Given the description of an element on the screen output the (x, y) to click on. 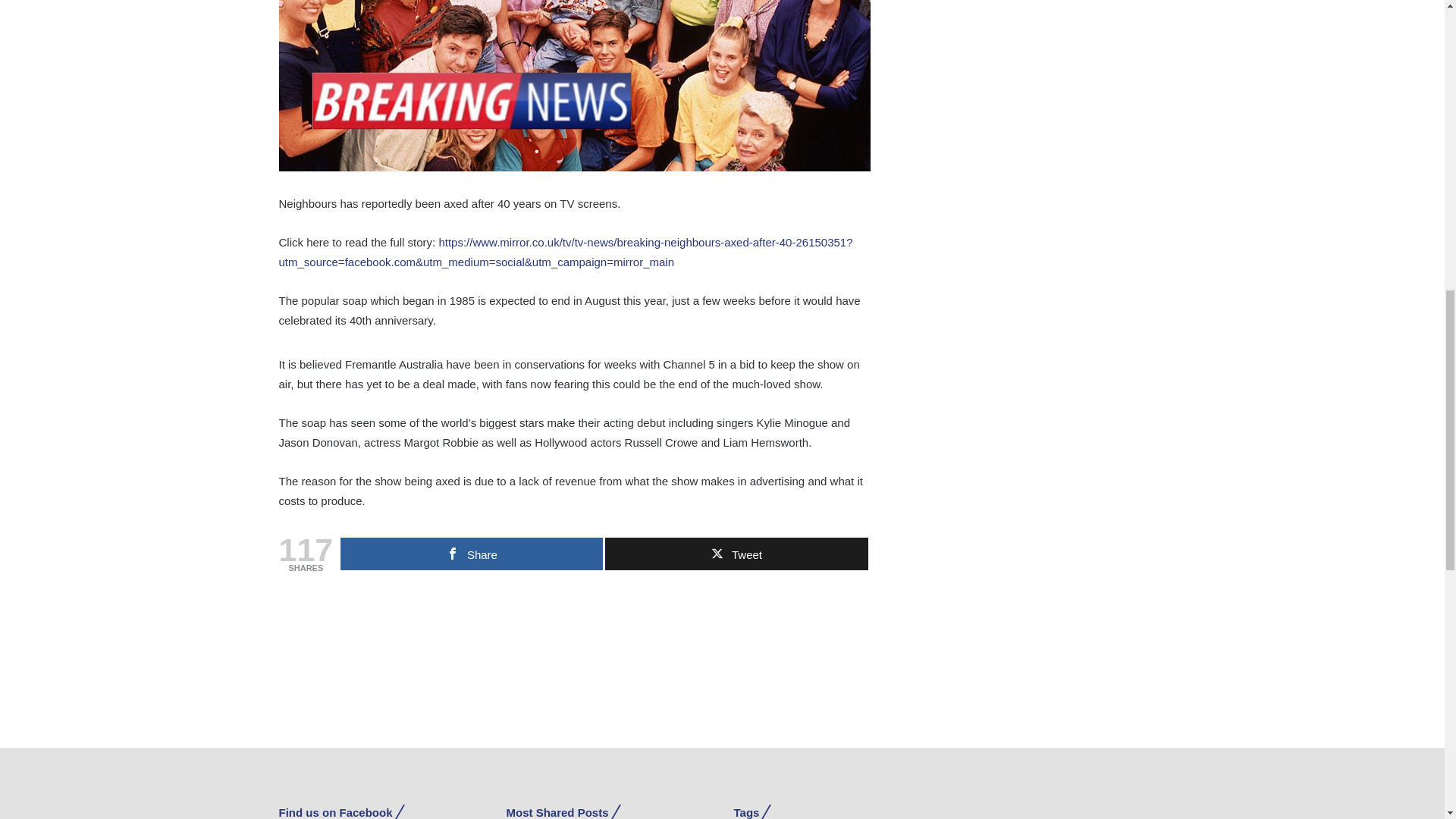
Tweet (736, 553)
Share (471, 553)
